Given the description of an element on the screen output the (x, y) to click on. 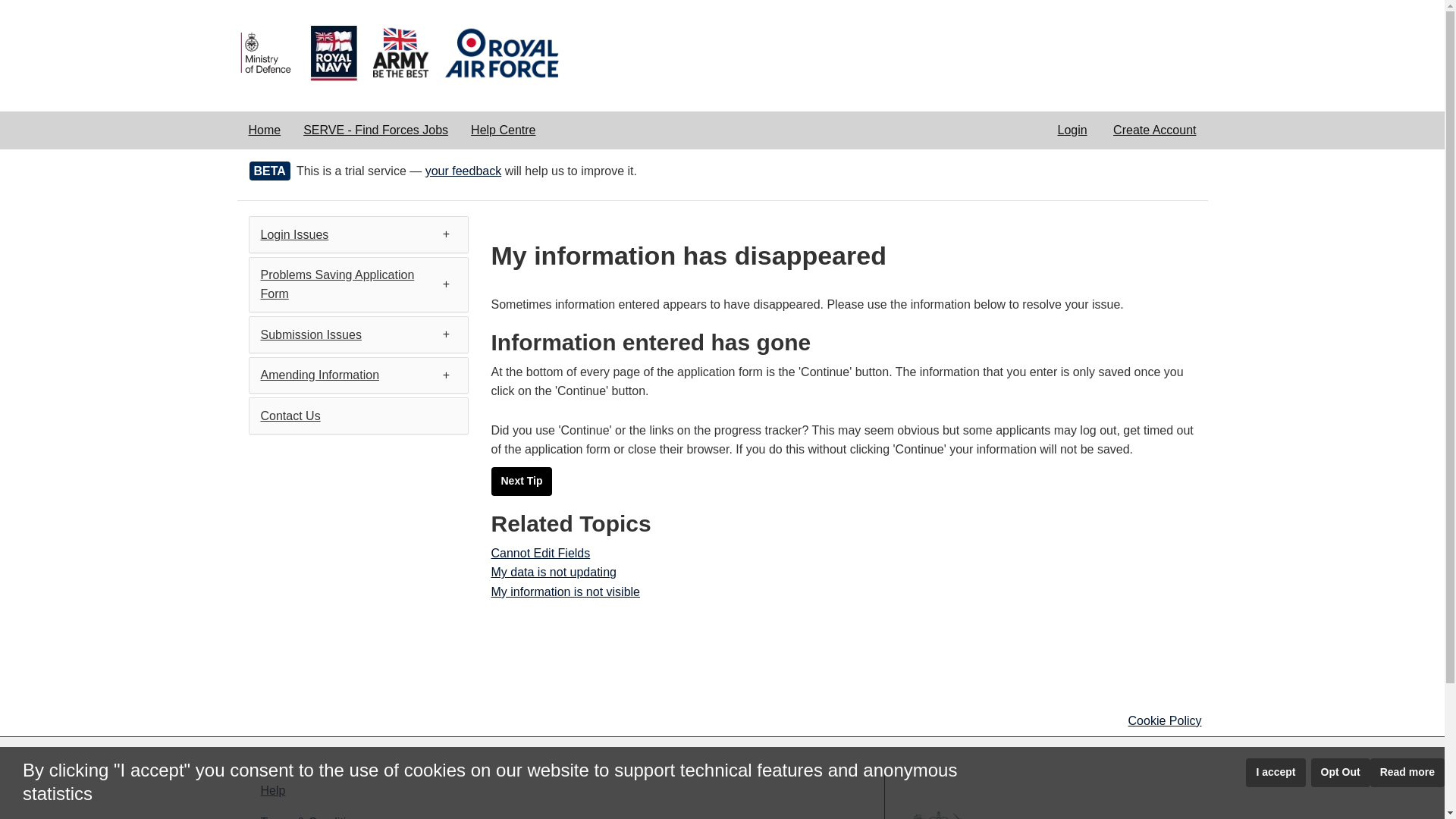
Cannot Edit Fields (541, 553)
Home (263, 130)
your feedback (463, 170)
Create Account (1154, 130)
Next Tip (522, 481)
Help Centre (503, 130)
I accept (1275, 772)
Help (399, 790)
Login (1071, 130)
Problems Saving Application Form (337, 284)
My data is not updating (553, 571)
Contact Us (290, 415)
Opt Out (1340, 772)
SERVE - Find Forces Jobs (376, 130)
Amending Information (320, 374)
